Given the description of an element on the screen output the (x, y) to click on. 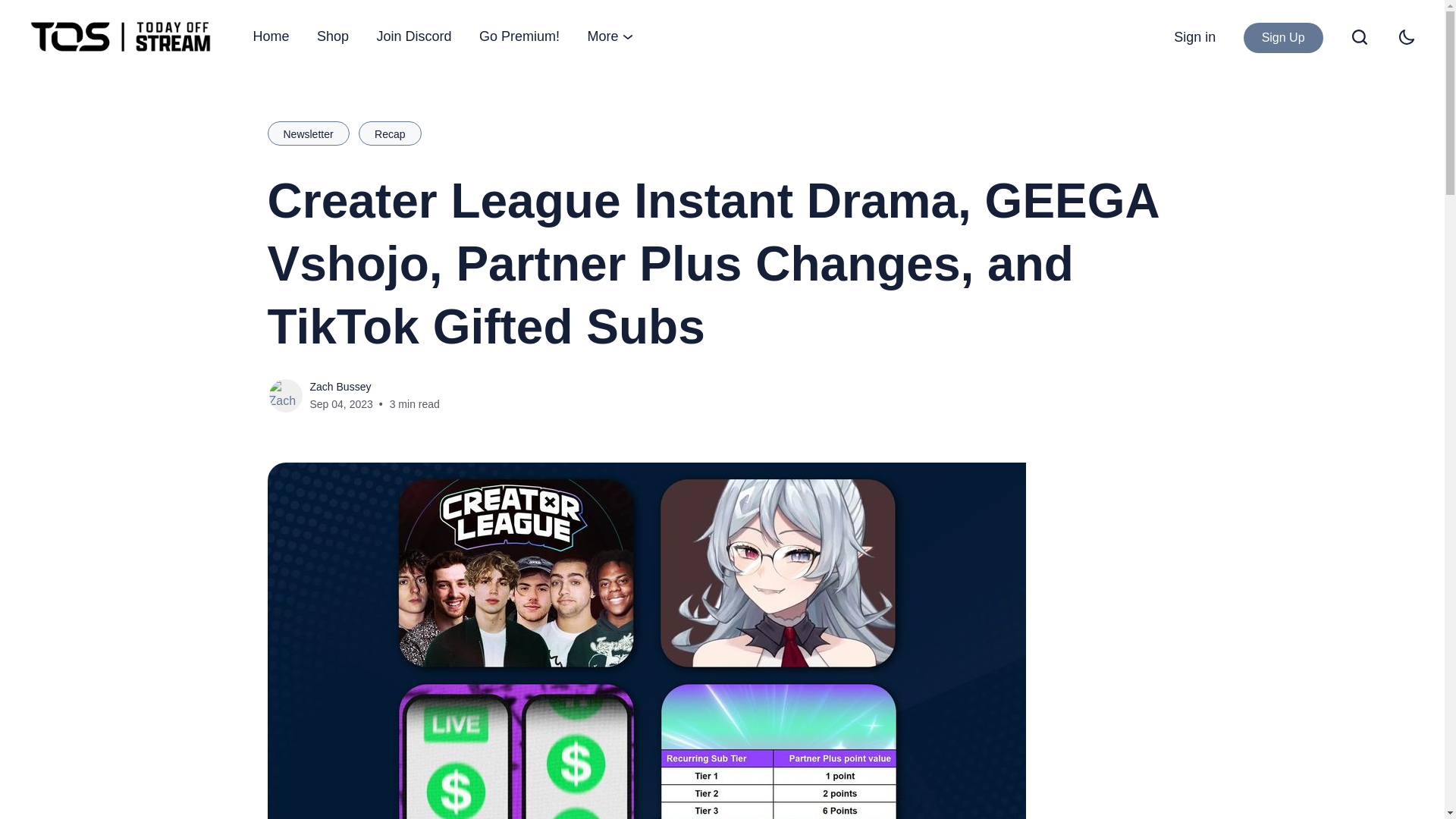
More (609, 36)
Sign in (1194, 36)
Join Discord (414, 36)
Recap (389, 133)
Zach Bussey (339, 386)
Go Premium! (519, 36)
Sign Up (1283, 37)
Newsletter (307, 133)
